Given the description of an element on the screen output the (x, y) to click on. 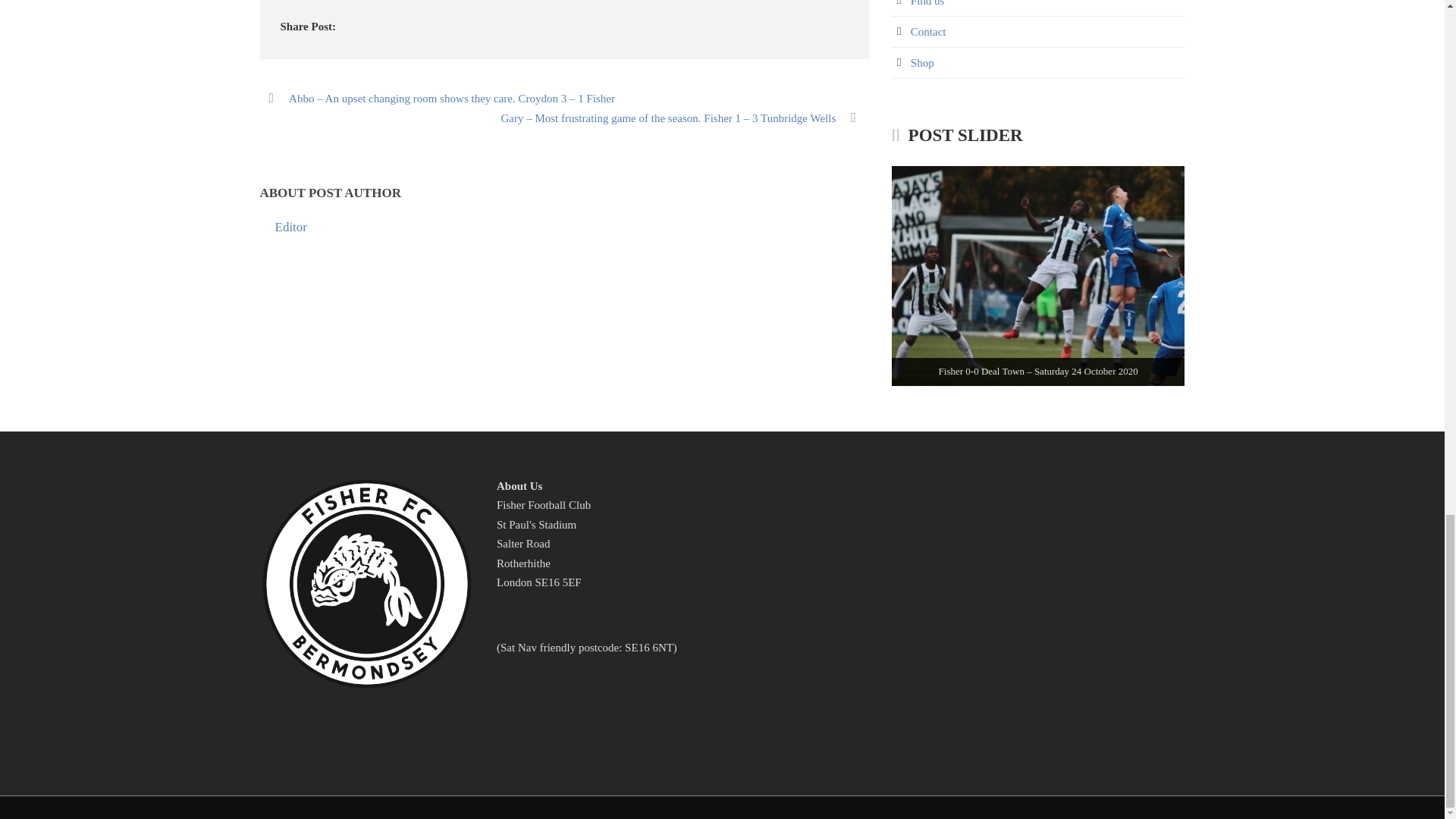
Posts by Editor (291, 227)
